Given the description of an element on the screen output the (x, y) to click on. 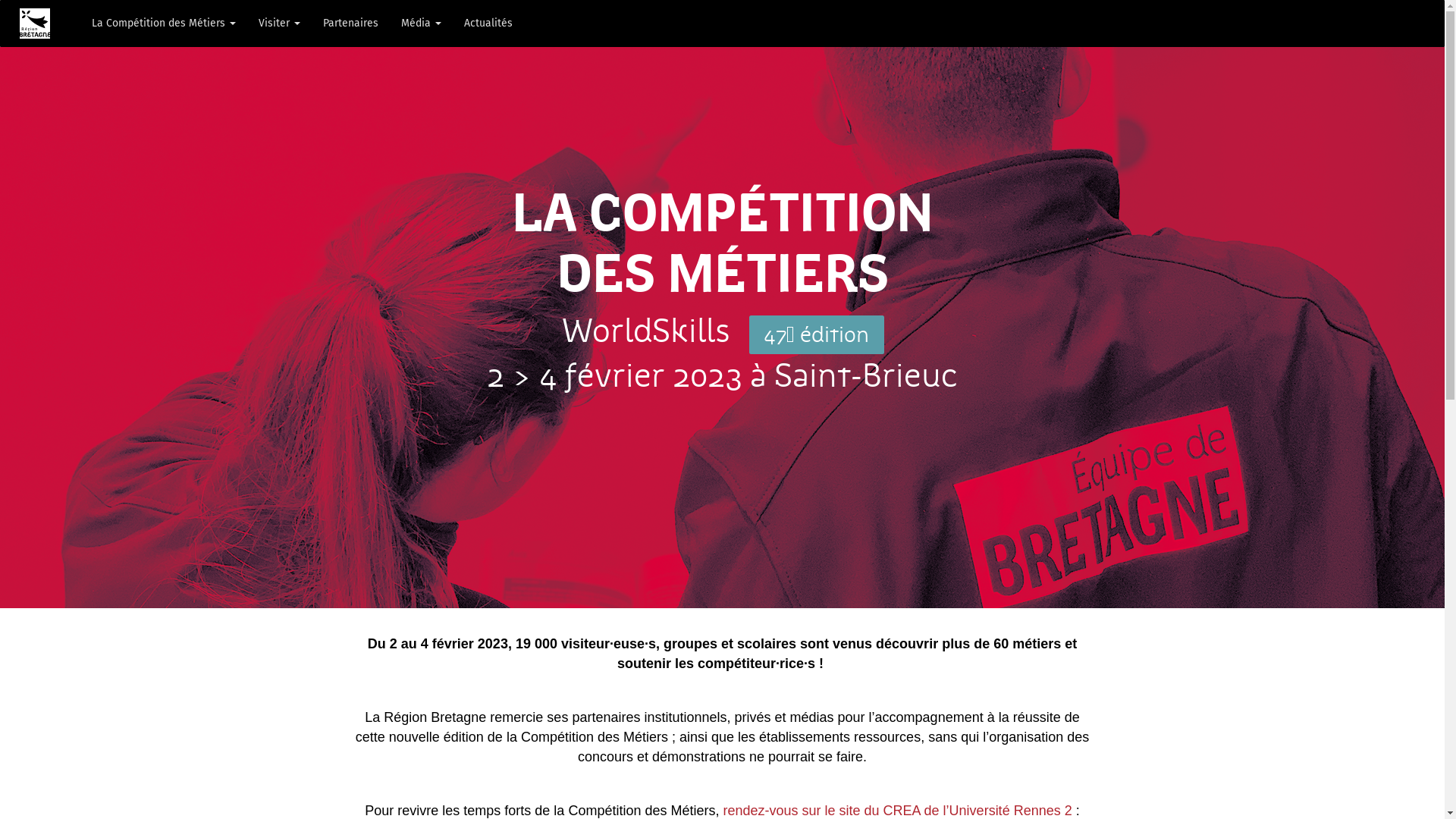
Partenaires Element type: text (350, 23)
Visiter Element type: text (279, 23)
